Given the description of an element on the screen output the (x, y) to click on. 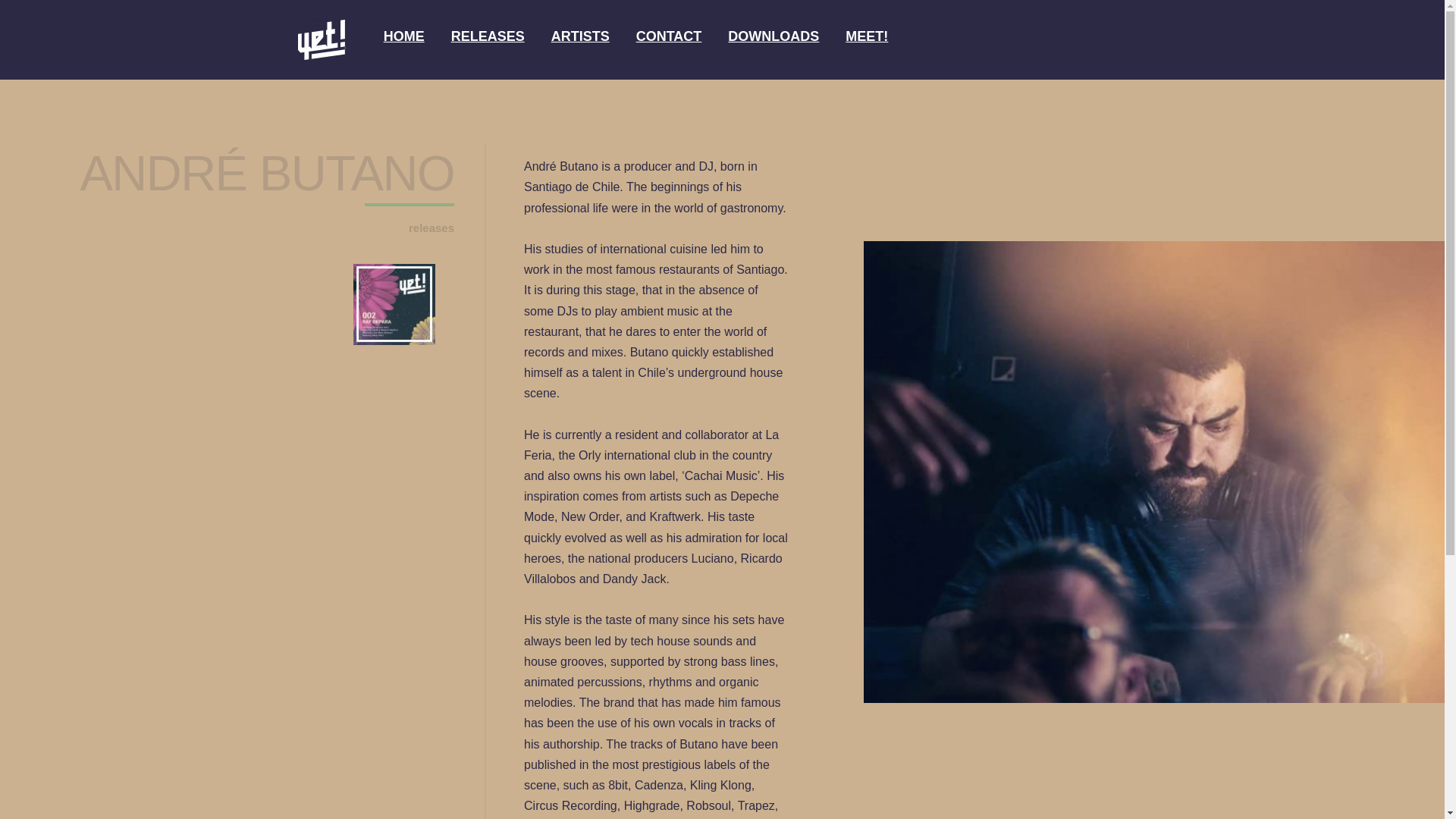
HOME (404, 36)
ARTISTS (580, 36)
MEET! (866, 36)
DOWNLOADS (773, 36)
CONTACT (668, 36)
RELEASES (487, 36)
